Given the description of an element on the screen output the (x, y) to click on. 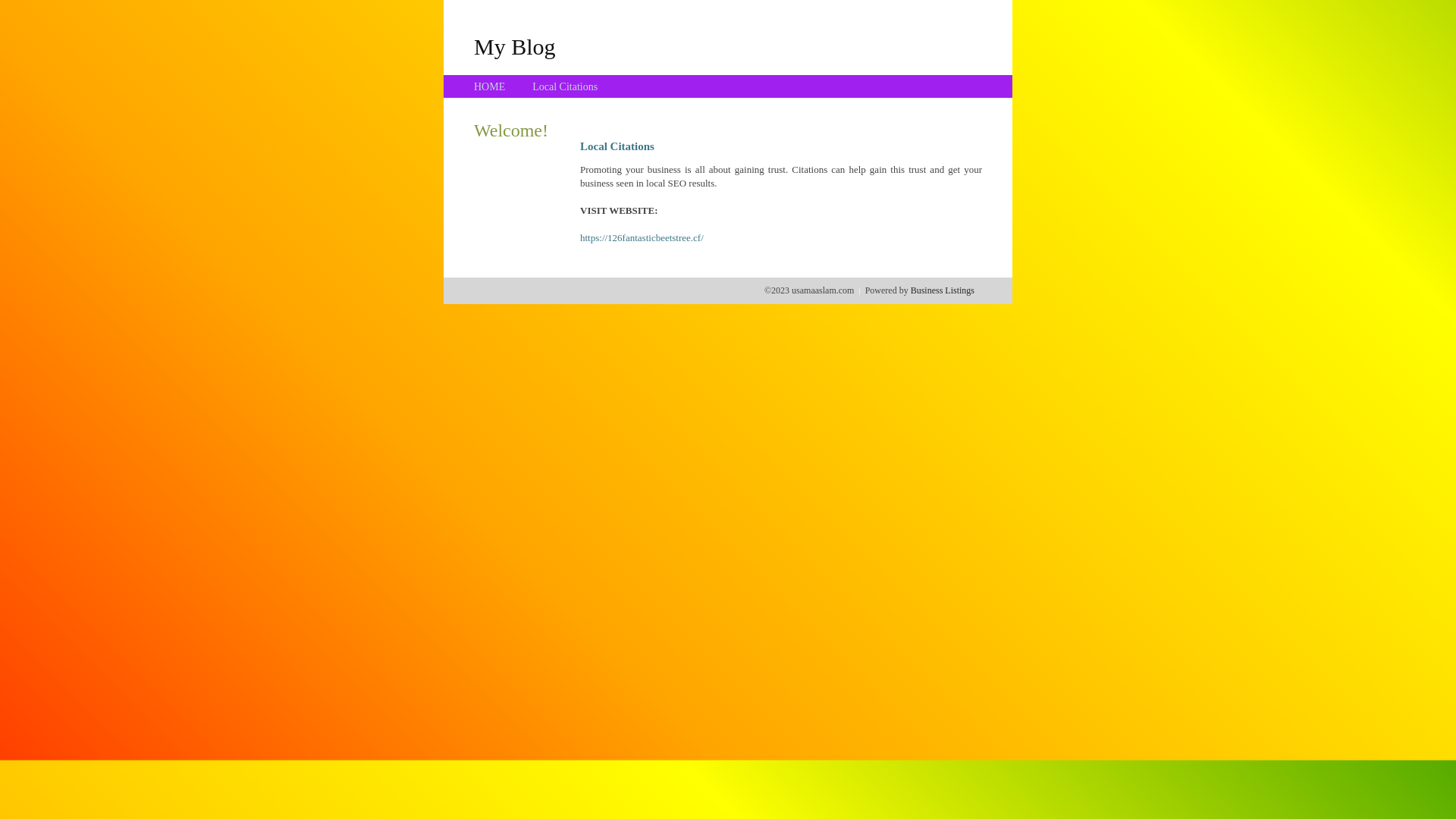
HOME Element type: text (489, 86)
Local Citations Element type: text (564, 86)
My Blog Element type: text (514, 46)
https://126fantasticbeetstree.cf/ Element type: text (641, 237)
Business Listings Element type: text (942, 290)
